Given the description of an element on the screen output the (x, y) to click on. 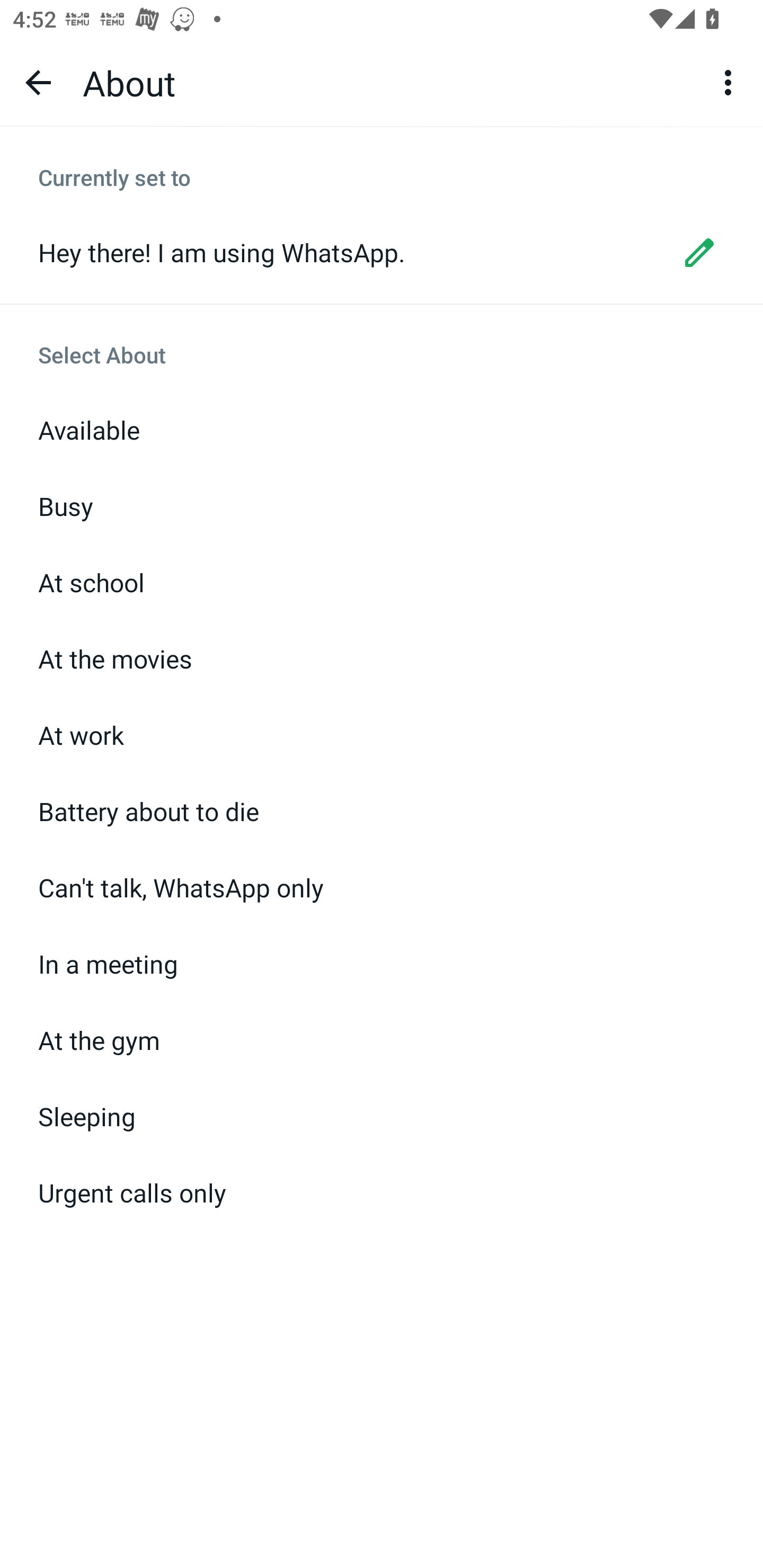
Navigate up (38, 82)
More options (731, 81)
Hey there! I am using WhatsApp. edit (381, 252)
Available (381, 430)
Busy (381, 506)
At school (381, 582)
At the movies (381, 658)
At work (381, 735)
Battery about to die (381, 811)
Can't talk, WhatsApp only (381, 887)
In a meeting (381, 963)
At the gym (381, 1039)
Sleeping (381, 1116)
Urgent calls only (381, 1192)
